Given the description of an element on the screen output the (x, y) to click on. 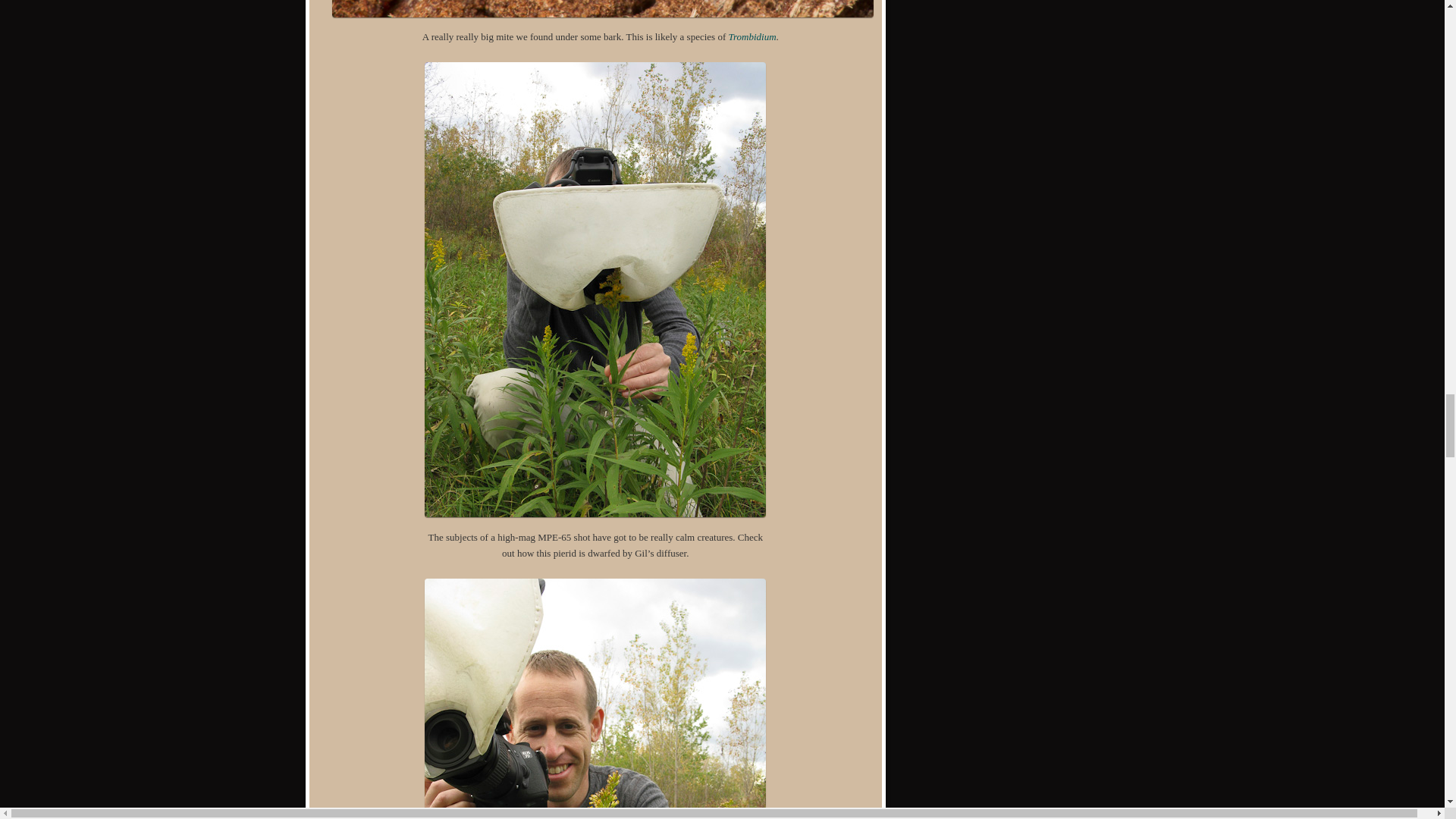
Trombidium (752, 36)
